Given the description of an element on the screen output the (x, y) to click on. 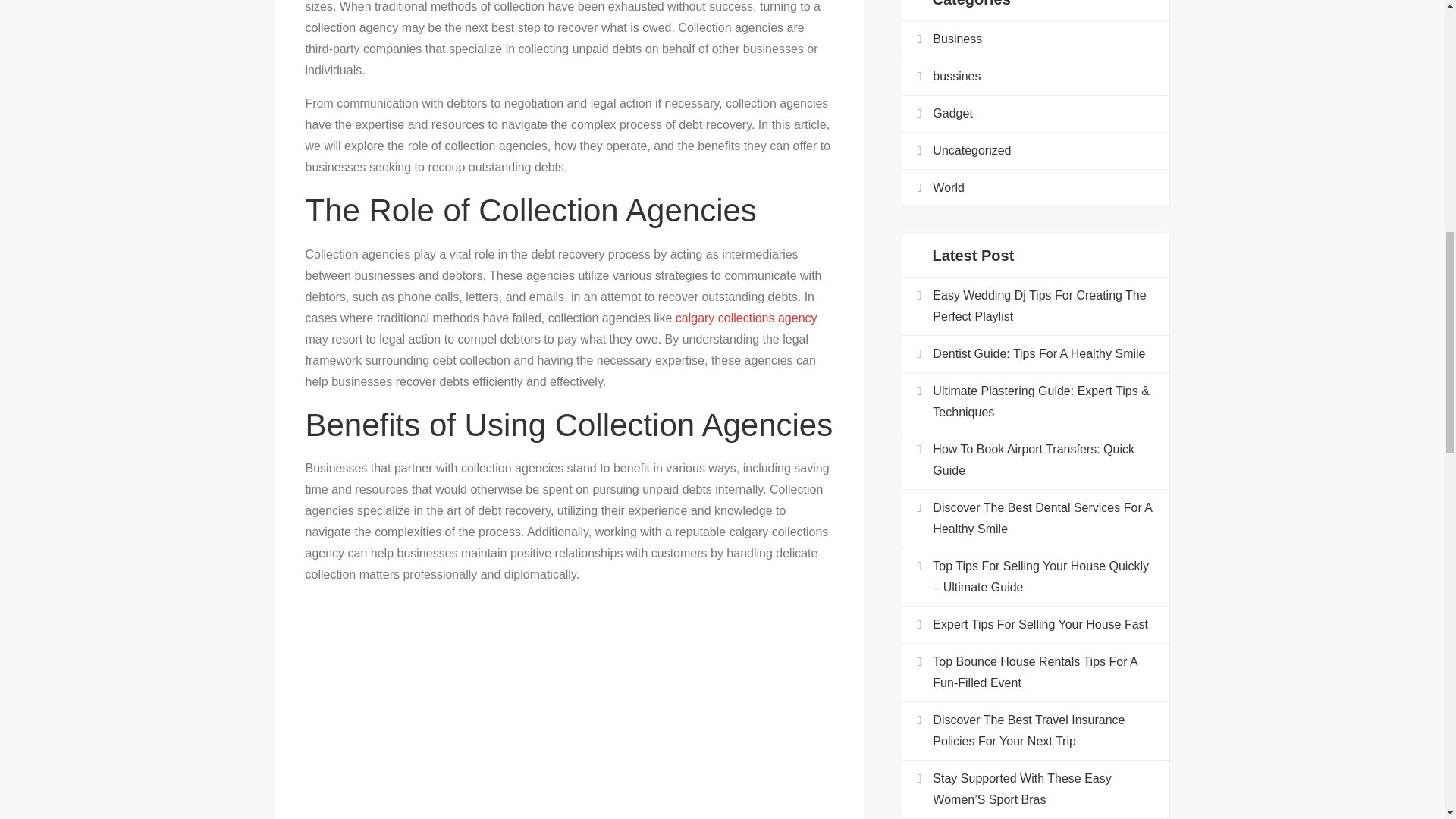
Expert Tips For Selling Your House Fast (1040, 624)
Dentist Guide: Tips For A Healthy Smile (1038, 353)
How To Book Airport Transfers: Quick Guide (1043, 459)
Business (957, 38)
calgary collections agency (745, 318)
Discover The Best Dental Services For A Healthy Smile (1043, 518)
Easy Wedding Dj Tips For Creating The Perfect Playlist (1043, 306)
Gadget (952, 113)
Uncategorized (971, 150)
Top Bounce House Rentals Tips For A Fun-Filled Event (1043, 672)
World (948, 188)
bussines (956, 76)
